Given the description of an element on the screen output the (x, y) to click on. 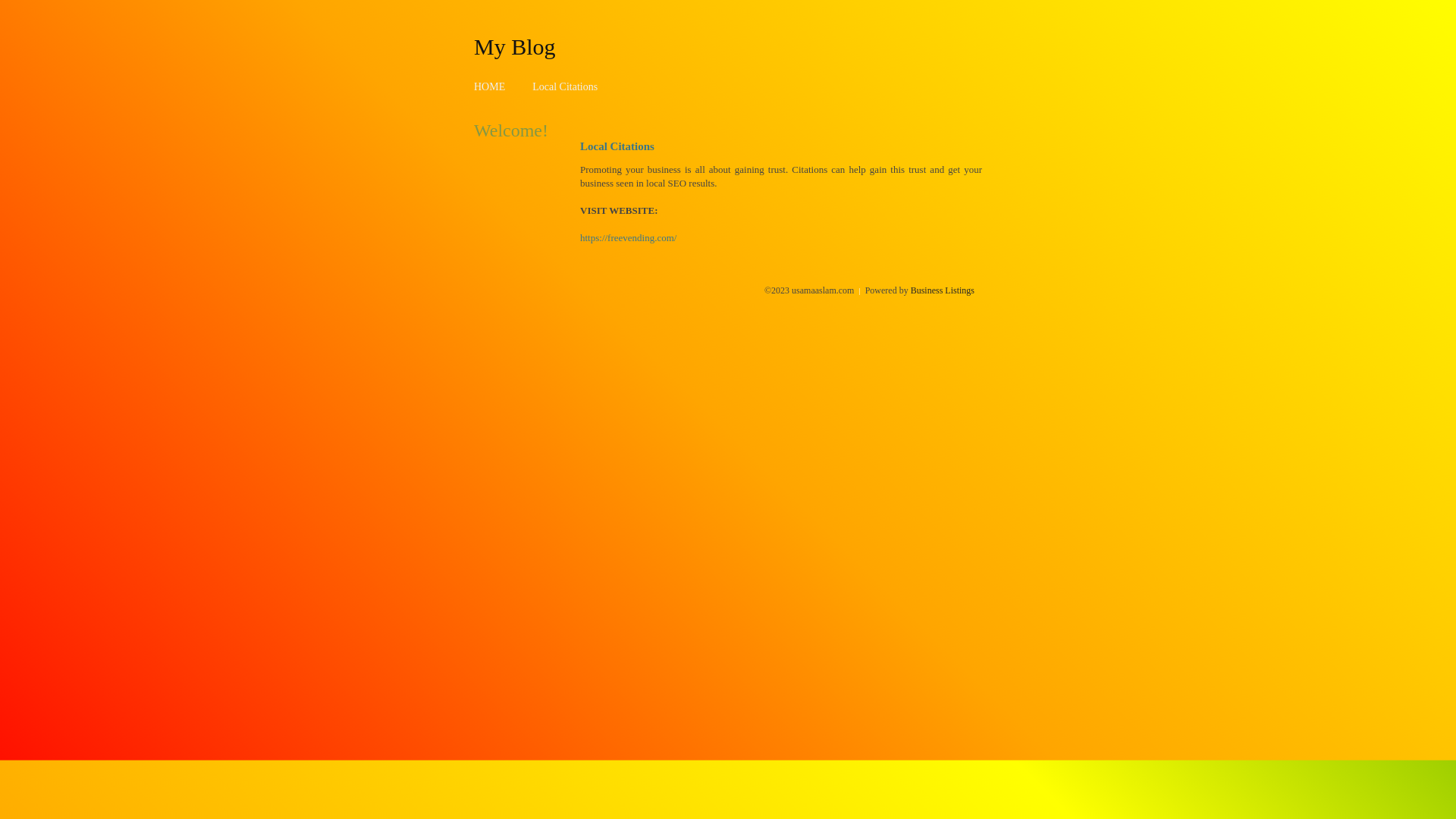
Business Listings Element type: text (942, 290)
Local Citations Element type: text (564, 86)
My Blog Element type: text (514, 46)
HOME Element type: text (489, 86)
https://freevending.com/ Element type: text (628, 237)
